Given the description of an element on the screen output the (x, y) to click on. 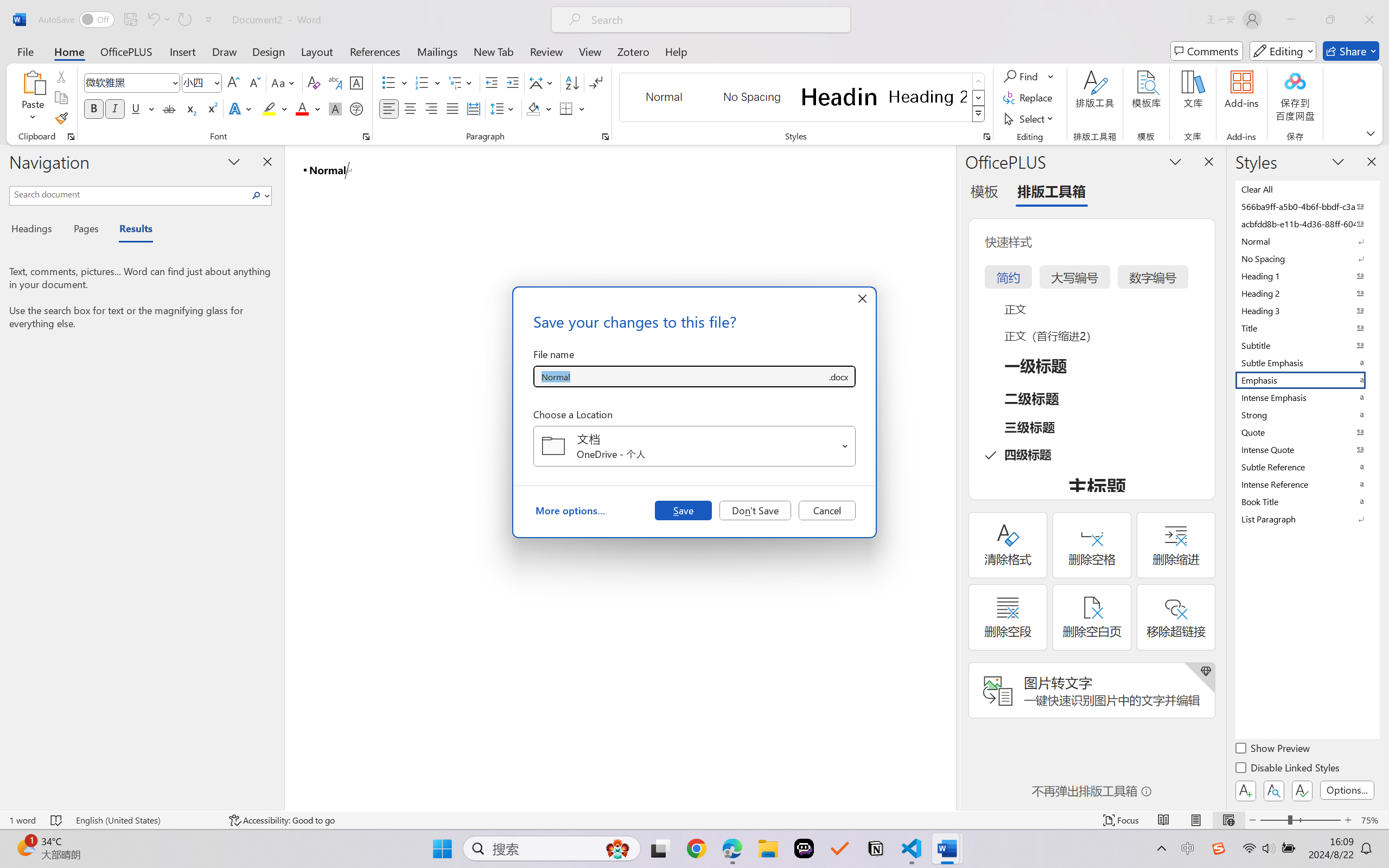
Multilevel List (461, 82)
File name (680, 376)
Format Painter (60, 118)
AutomationID: QuickStylesGallery (802, 97)
Cancel (826, 509)
Grow Font (233, 82)
Quote (1306, 431)
Layout (316, 51)
